Given the description of an element on the screen output the (x, y) to click on. 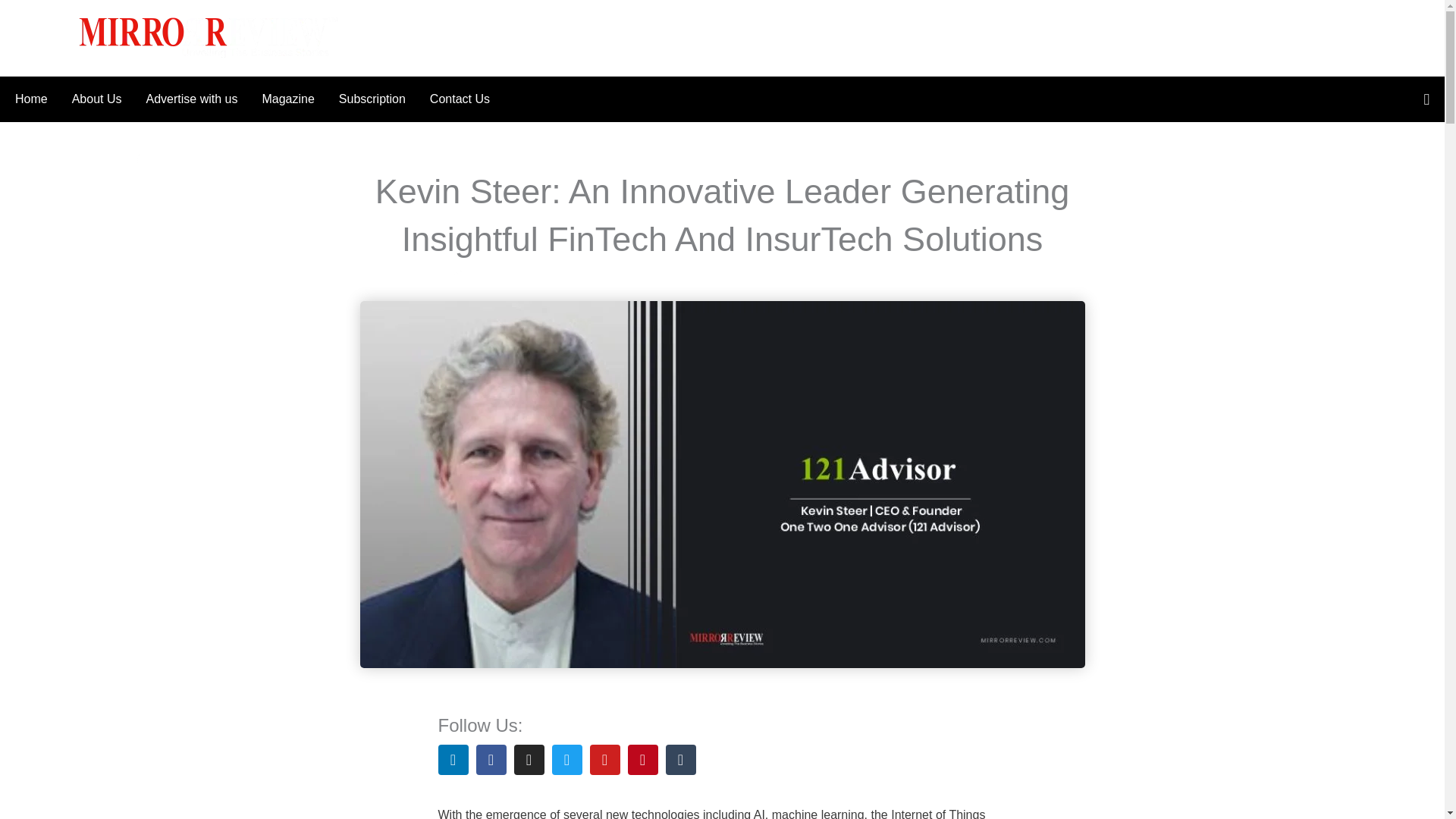
Pinterest (642, 759)
Twitter (566, 759)
Main Menu (43, 37)
Youtube (604, 759)
Magazine (287, 99)
Instagram (528, 759)
Home (36, 99)
Linkedin (453, 759)
Advertise with us (190, 99)
